Given the description of an element on the screen output the (x, y) to click on. 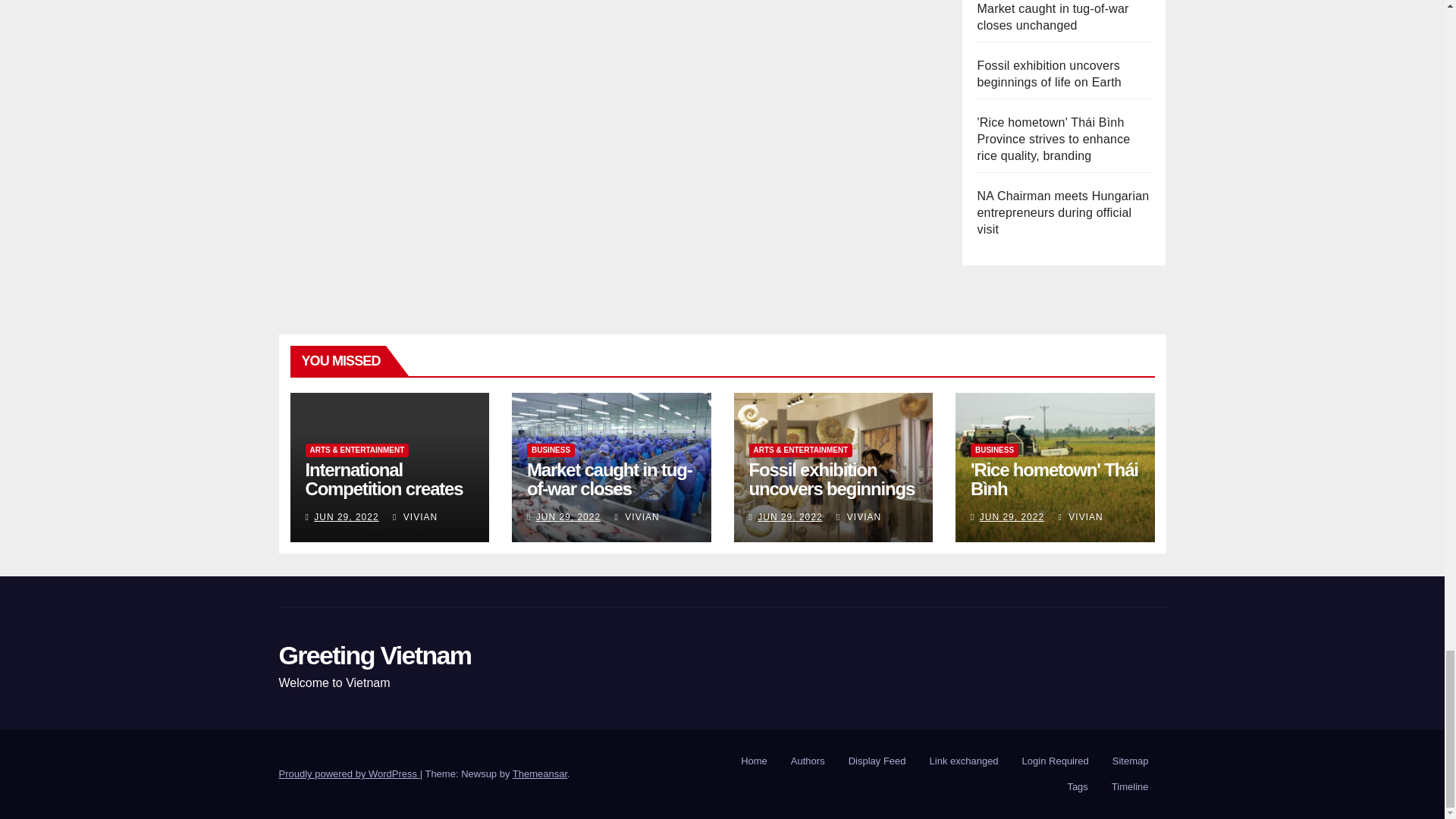
Home (754, 760)
Permalink to: Market caught in tug-of-war closes unchanged (609, 488)
